Given the description of an element on the screen output the (x, y) to click on. 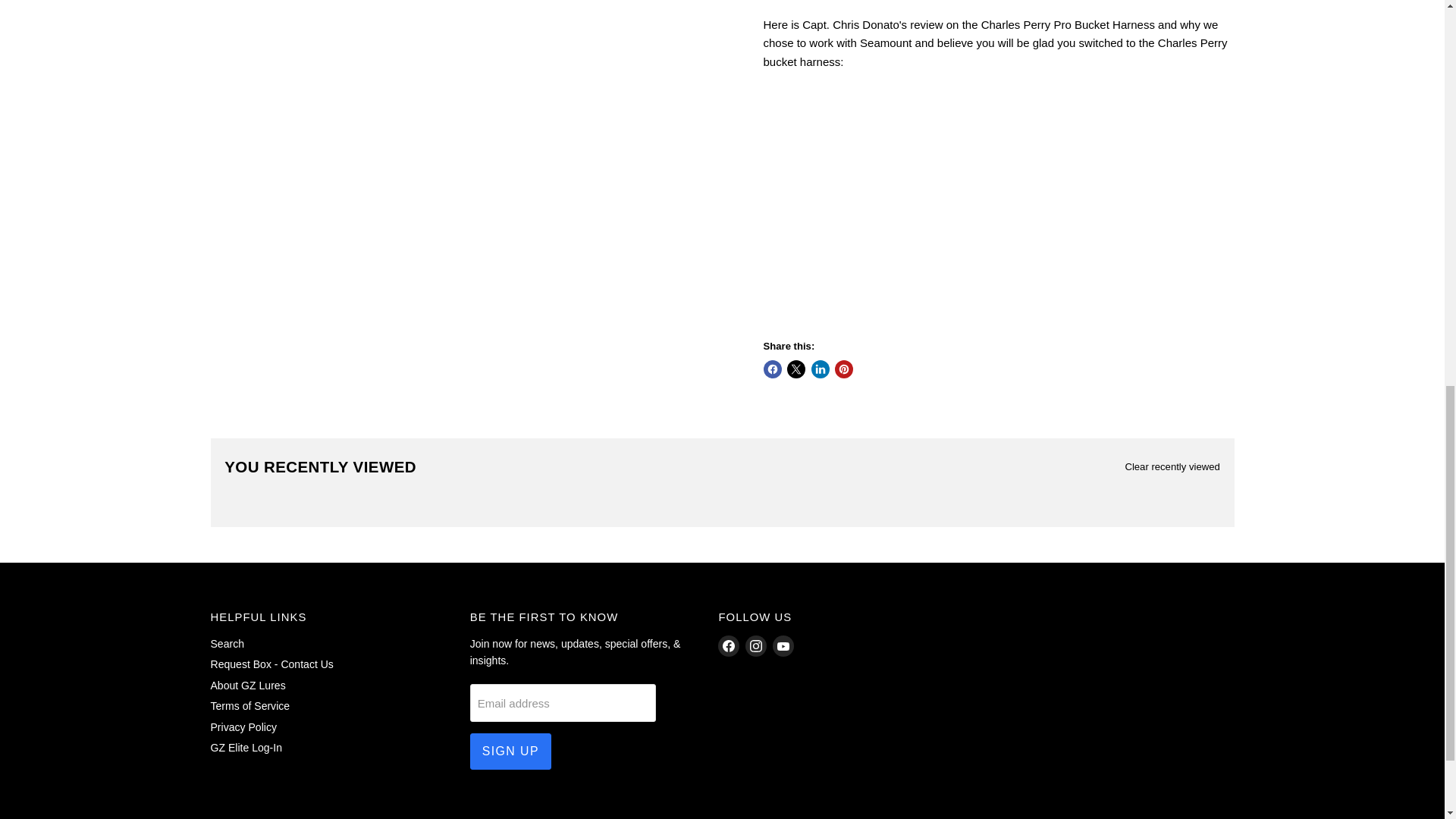
YouTube (783, 645)
Facebook (728, 645)
Instagram (756, 645)
YouTube video player (975, 201)
